Given the description of an element on the screen output the (x, y) to click on. 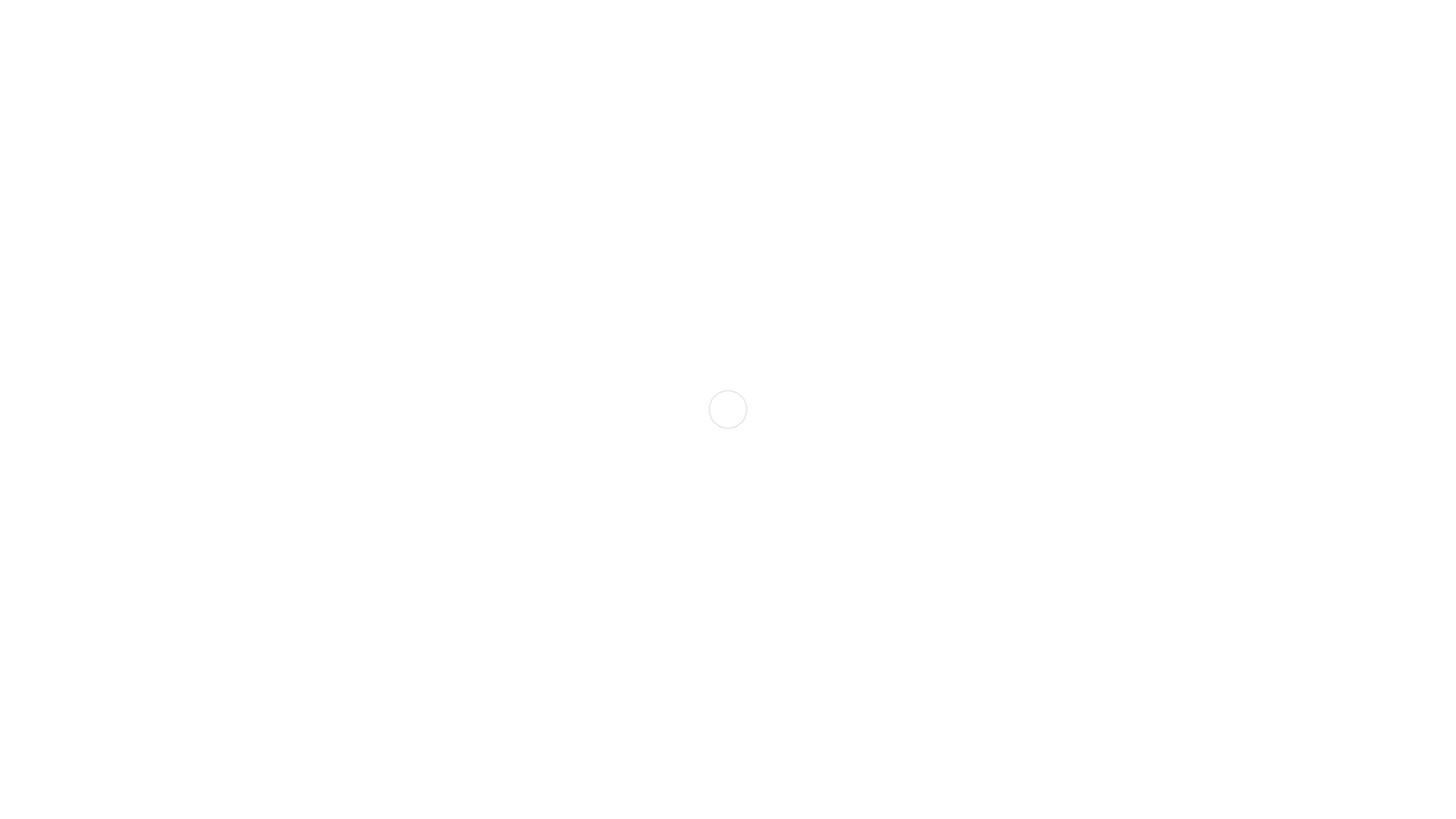
Crocs Element type: text (459, 507)
Yeezy Boost 700 Element type: text (304, 390)
Nike M2k TEKNO Element type: text (131, 390)
DC Shoes Element type: text (564, 637)
Air Jordan Element type: text (74, 637)
Columbia Element type: text (369, 507)
Versace Element type: text (1104, 507)
DC Shoes Element type: text (499, 507)
Sneakerstore.by Element type: hover (281, 259)
Nike Element type: text (790, 507)
Saucony Element type: text (949, 637)
Ad1das Element type: text (25, 507)
Premiata Element type: text (851, 507)
Bape Element type: text (381, 637)
+37529 192 91 11 Element type: text (50, 12)
Saucony Element type: text (980, 507)
Helly hansen Element type: text (671, 507)
Balenciaga Element type: text (264, 507)
Dr. Martens Element type: text (643, 637)
Native Element type: text (761, 507)
Ree6ok Element type: text (863, 637)
The North Face Element type: text (1043, 507)
FEI LANG Element type: text (704, 637)
Converse Element type: text (484, 637)
Merrell Element type: text (725, 507)
Salomon Element type: text (905, 637)
Dior Element type: text (600, 637)
CAT Element type: text (332, 507)
Balenciaga Element type: text (295, 637)
Versace Element type: text (1100, 637)
Balmain Element type: text (346, 637)
Salomon Element type: text (936, 507)
Nike Element type: text (799, 637)
Nike Air Force Element type: text (44, 390)
UGG Element type: text (1065, 637)
Air Jordan Element type: text (74, 507)
Yeezy Boost 350 Element type: text (221, 390)
Converse Element type: text (419, 507)
Ad1das Element type: text (25, 637)
Bape Element type: text (306, 507)
Globe Element type: text (622, 507)
Calvin Klein Element type: text (427, 637)
Dr. Martens Element type: text (555, 507)
X REVEAL Element type: text (1154, 507)
Asics Element type: text (254, 637)
Fila Element type: text (744, 637)
Crocs Element type: text (523, 637)
ASH* Element type: text (225, 637)
Native Element type: text (770, 637)
Fila Element type: text (597, 507)
The North Face Element type: text (1012, 637)
Ree6ok Element type: text (894, 507)
Asics Element type: text (223, 507)
Ocai Element type: text (815, 507)
Prada Element type: text (828, 637)
